Given the description of an element on the screen output the (x, y) to click on. 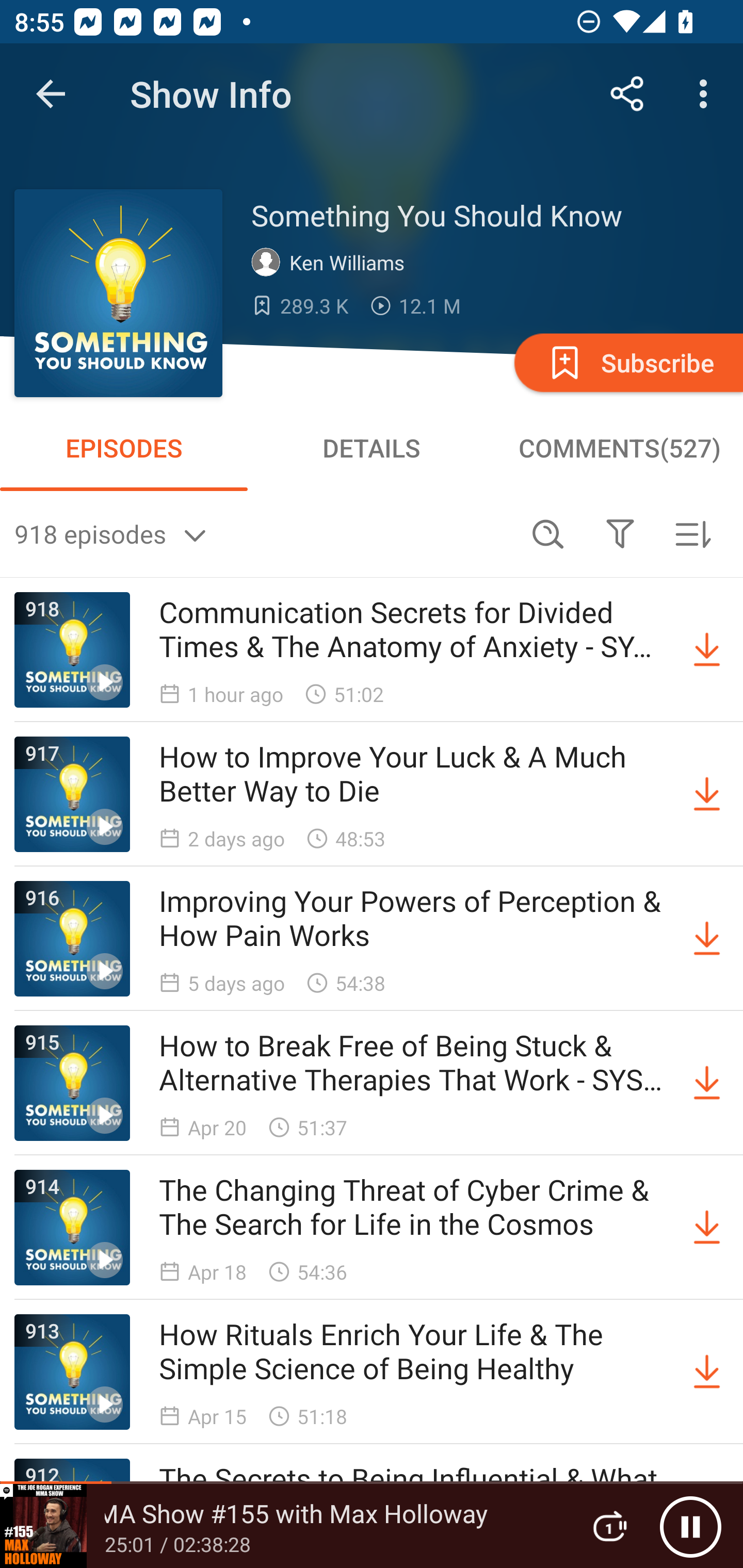
Navigate up (50, 93)
Share (626, 93)
More options (706, 93)
Ken Williams (332, 262)
Subscribe (627, 361)
EPISODES (123, 447)
DETAILS (371, 447)
COMMENTS(527) (619, 447)
918 episodes  (262, 533)
 Search (547, 533)
 (619, 533)
 Sorted by newest first (692, 533)
Download (706, 649)
Download (706, 793)
Download (706, 939)
Download (706, 1083)
Download (706, 1227)
Download (706, 1371)
Pause (690, 1526)
